Given the description of an element on the screen output the (x, y) to click on. 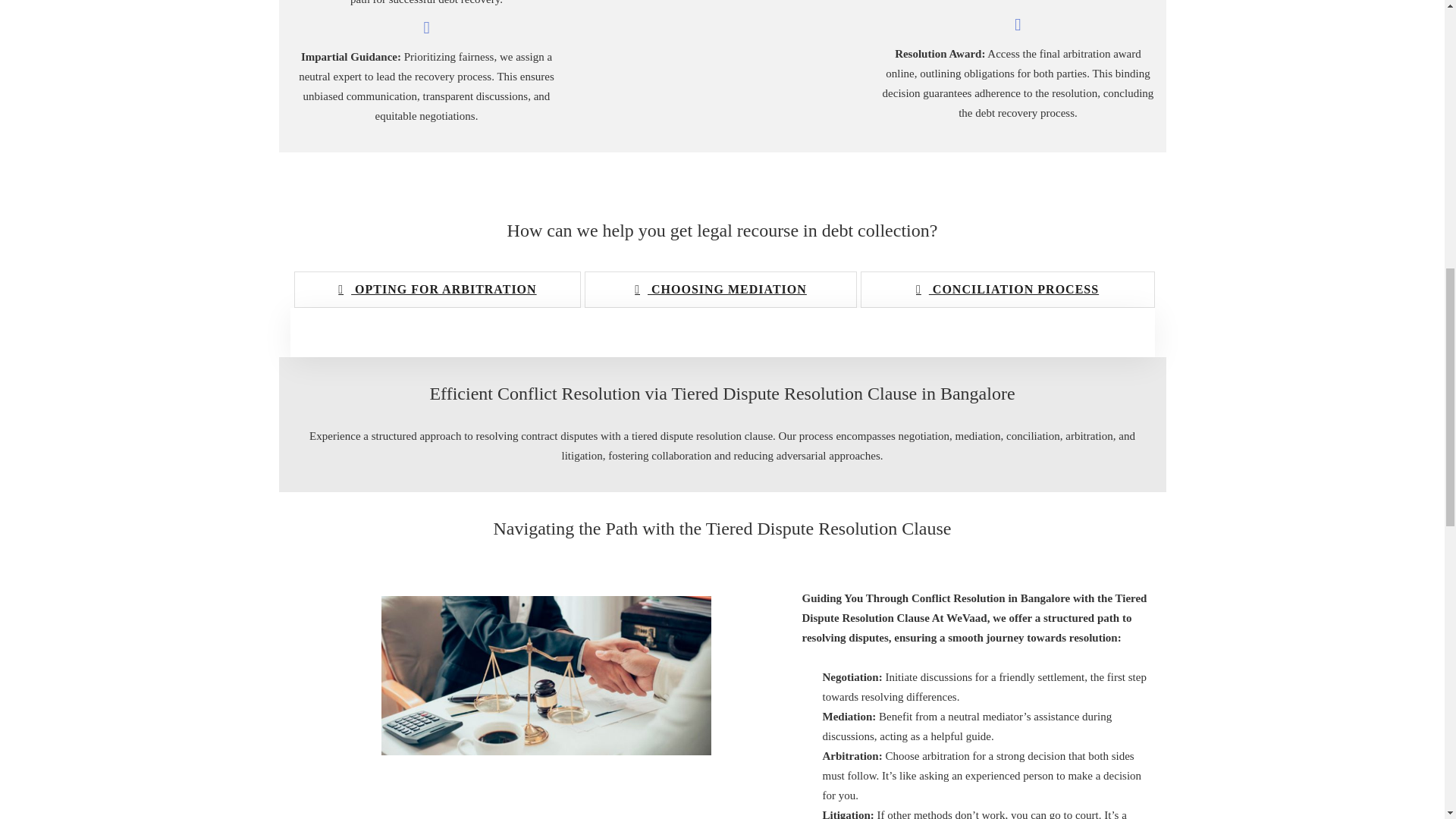
CHOOSING MEDIATION (720, 289)
OPTING FOR ARBITRATION (437, 289)
